Given the description of an element on the screen output the (x, y) to click on. 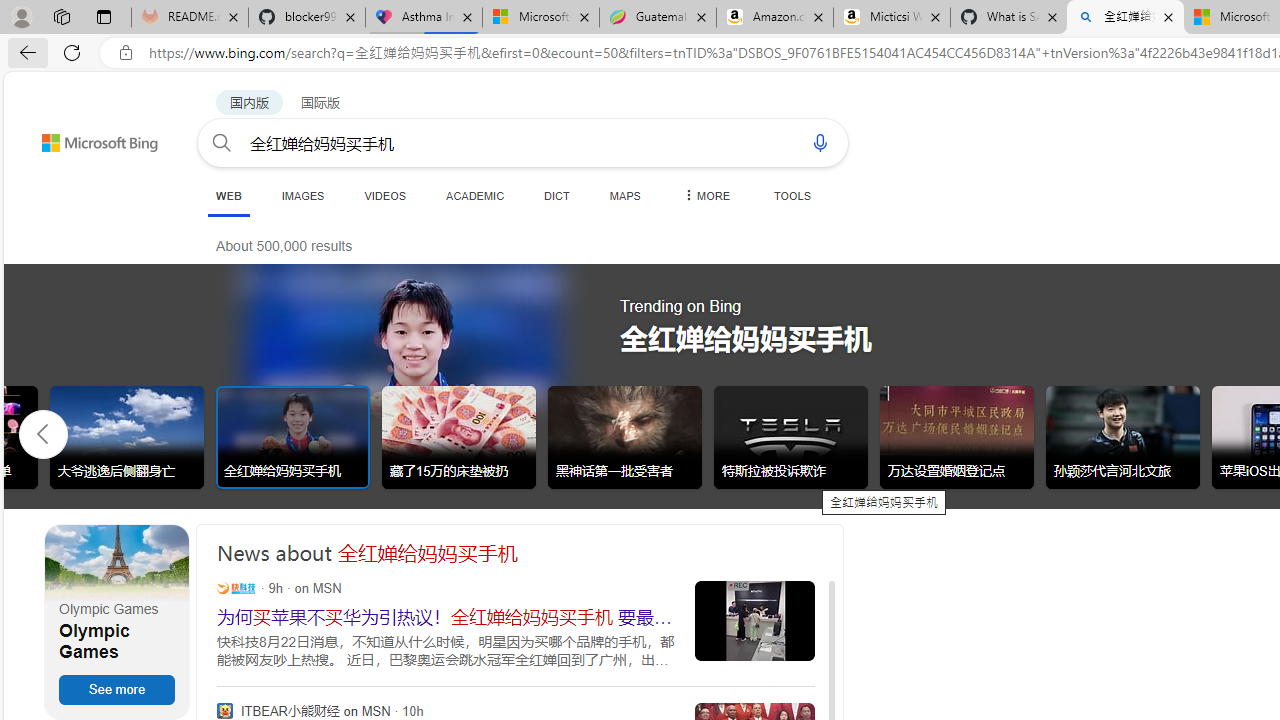
MORE (705, 195)
VIDEOS (384, 195)
Microsoft-Report a Concern to Bing (540, 17)
Search button (221, 142)
Asthma Inhalers: Names and Types (424, 17)
Dropdown Menu (705, 195)
IMAGES (302, 195)
ACADEMIC (475, 195)
